Given the description of an element on the screen output the (x, y) to click on. 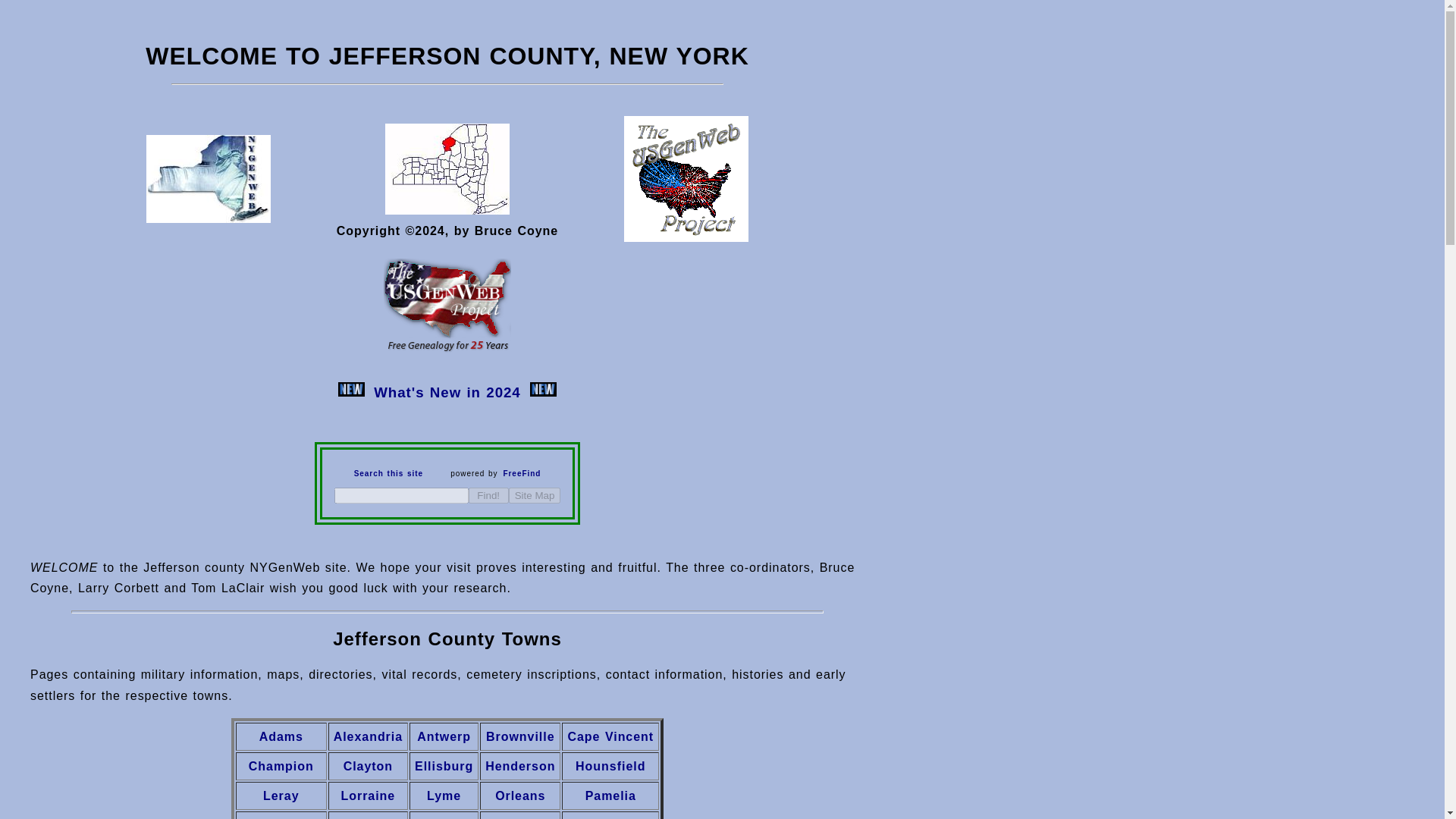
Ellisburg (443, 765)
Visit (208, 218)
Theresa (520, 818)
Rutland (443, 818)
Lyme (444, 795)
Orleans (520, 795)
Rodman (367, 818)
 Find!  (488, 495)
Cape Vincent (610, 736)
Pamelia (610, 795)
